Given the description of an element on the screen output the (x, y) to click on. 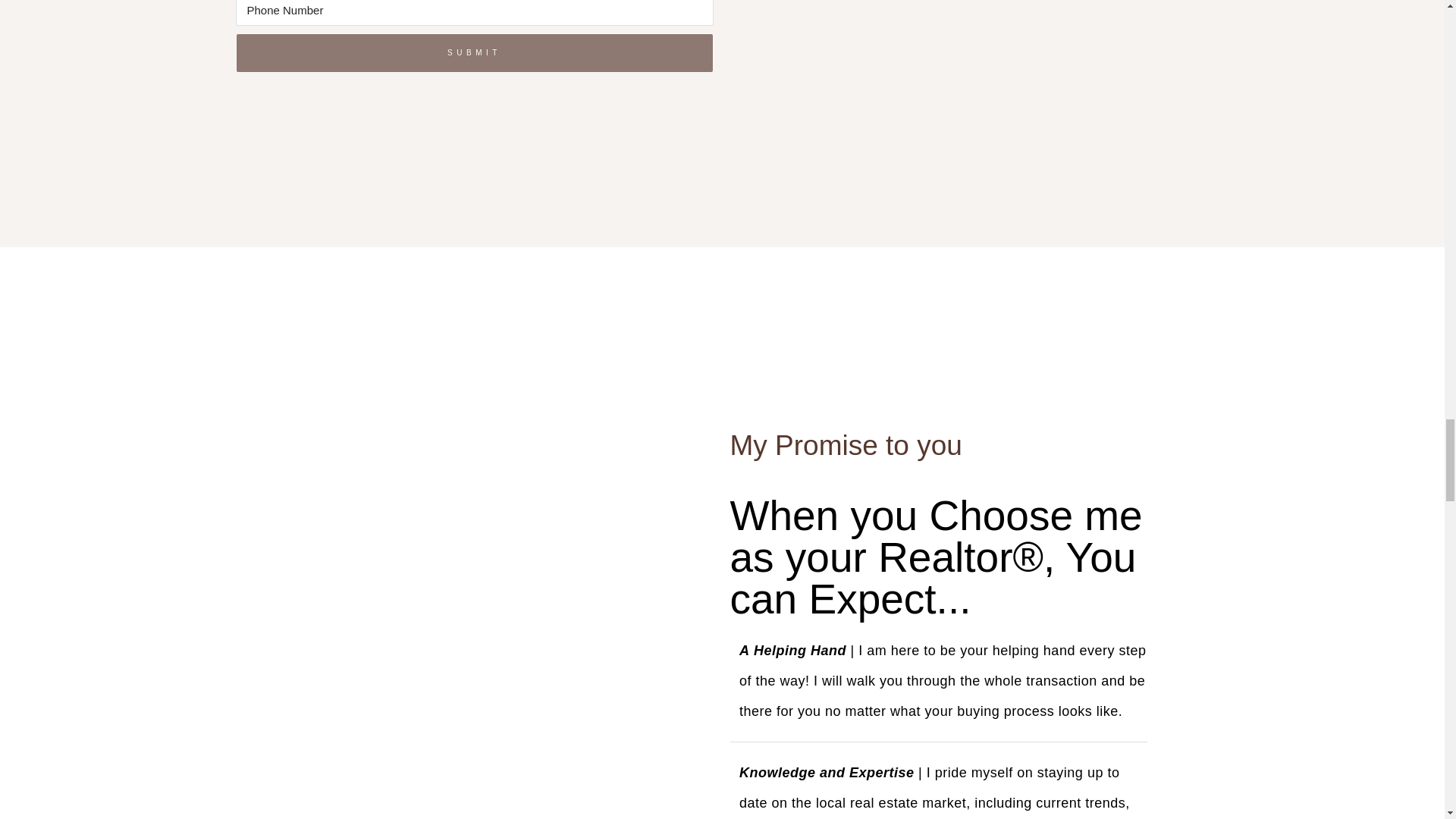
SUBMIT (473, 52)
